Given the description of an element on the screen output the (x, y) to click on. 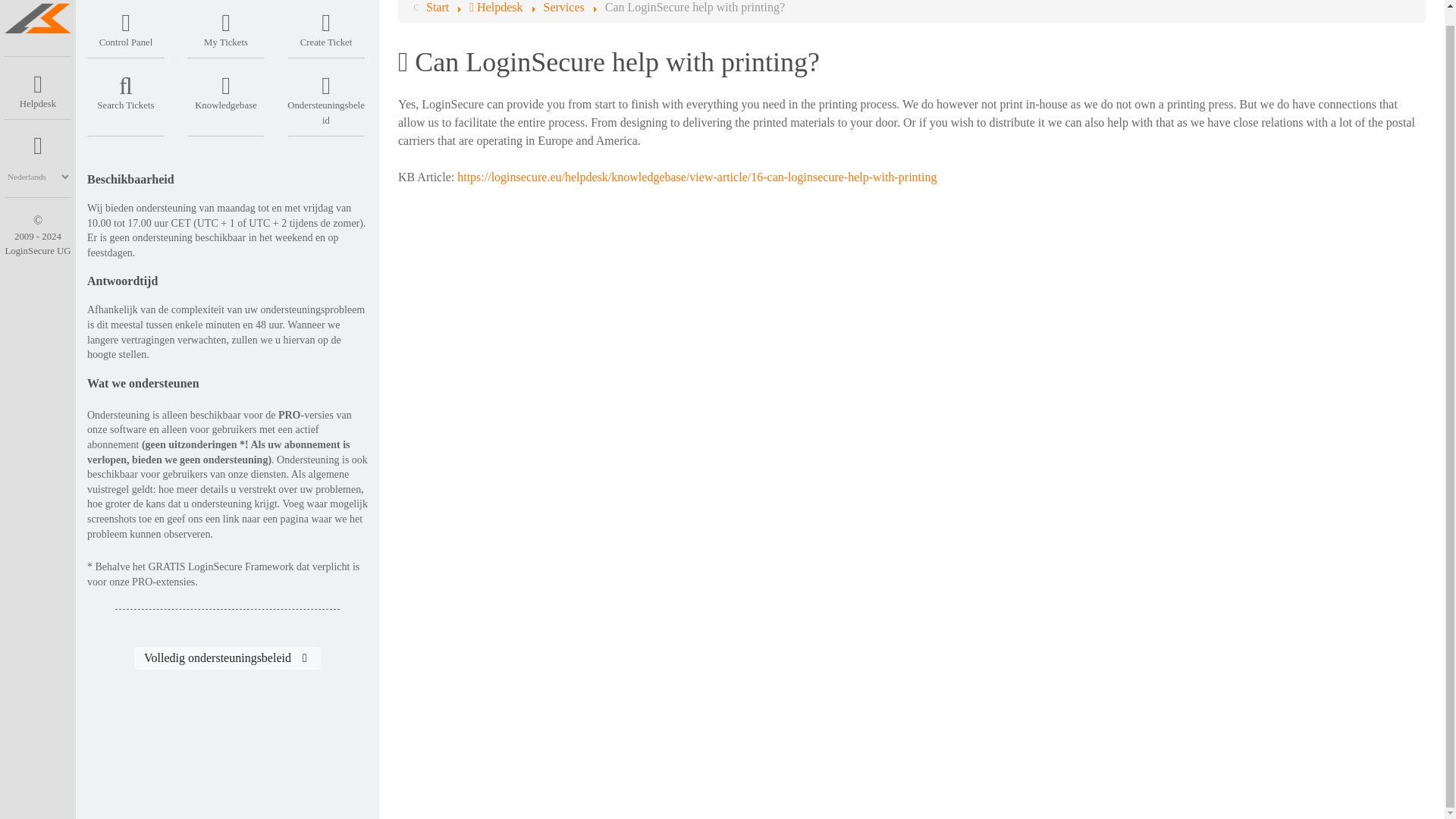
Helpdesk (496, 6)
Ondersteuningsbeleid (325, 96)
Volledig ondersteuningsbeleid (226, 658)
Control Panel (125, 26)
My Tickets (225, 26)
Knowledgebase (225, 89)
Services (563, 6)
Helpdesk (37, 87)
Create Ticket (325, 26)
Start (437, 6)
Search Tickets (125, 89)
